Given the description of an element on the screen output the (x, y) to click on. 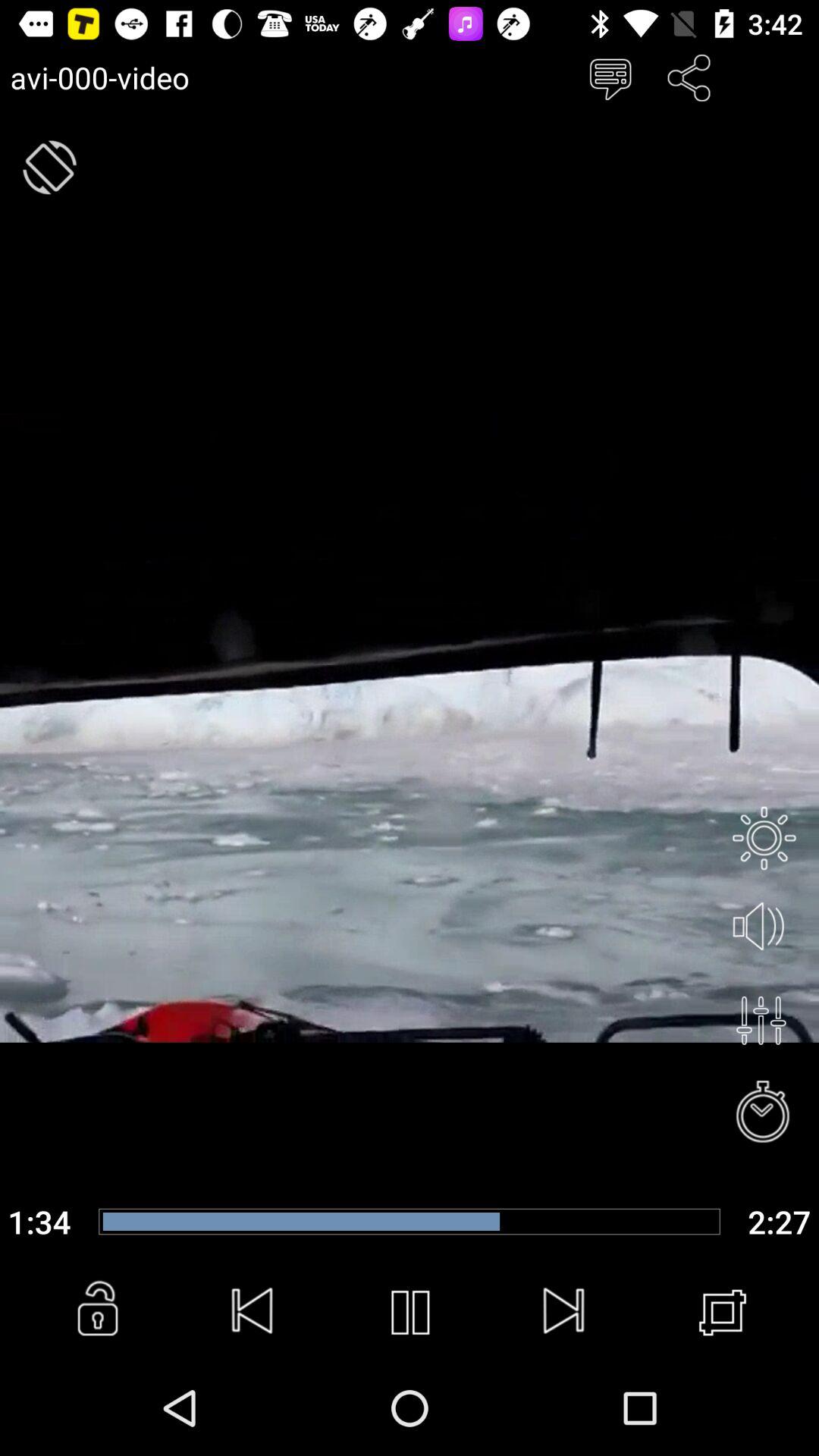
play (409, 1312)
